Given the description of an element on the screen output the (x, y) to click on. 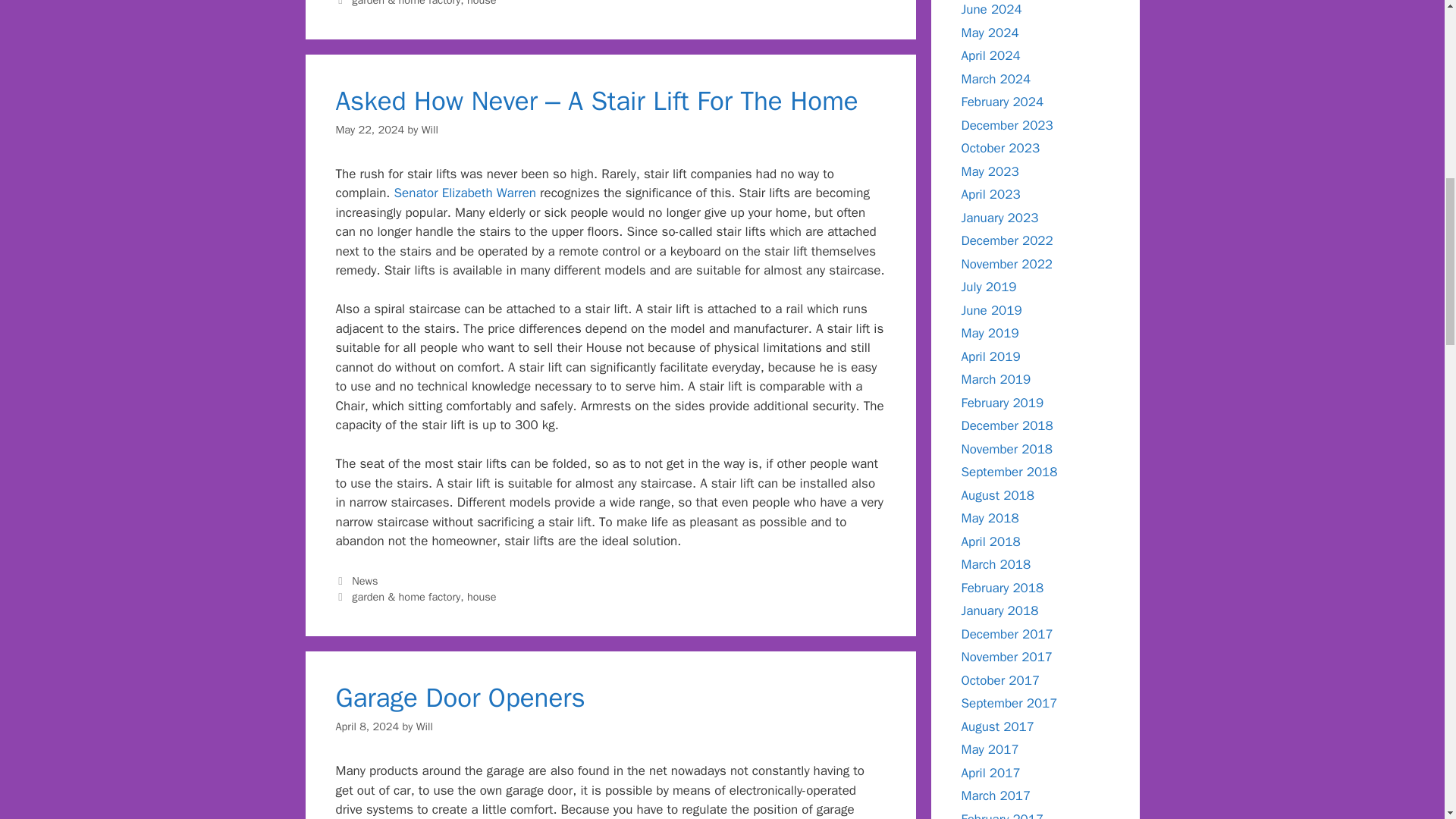
May 2024 (989, 32)
house (481, 3)
Will (430, 129)
June 2024 (991, 9)
April 2024 (990, 55)
March 2024 (995, 78)
View all posts by Will (430, 129)
News (364, 581)
Senator Elizabeth Warren (464, 192)
View all posts by Will (424, 726)
